Given the description of an element on the screen output the (x, y) to click on. 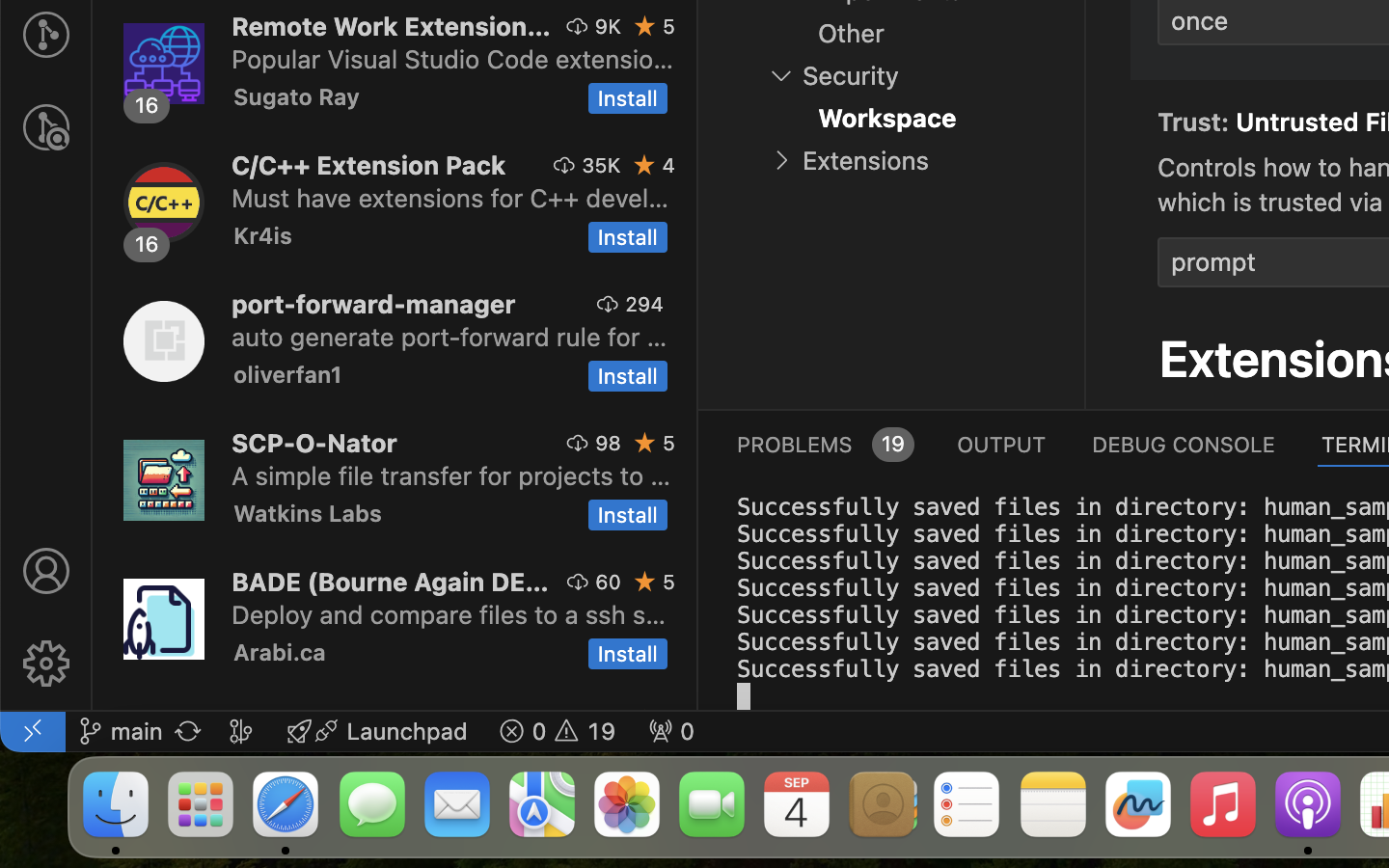
C/C++ Extension Pack Element type: AXStaticText (369, 164)
Extensions Element type: AXStaticText (865, 160)
98 Element type: AXStaticText (608, 442)
Kr4is Element type: AXStaticText (263, 234)
0 PROBLEMS 19 Element type: AXRadioButton (824, 443)
